Given the description of an element on the screen output the (x, y) to click on. 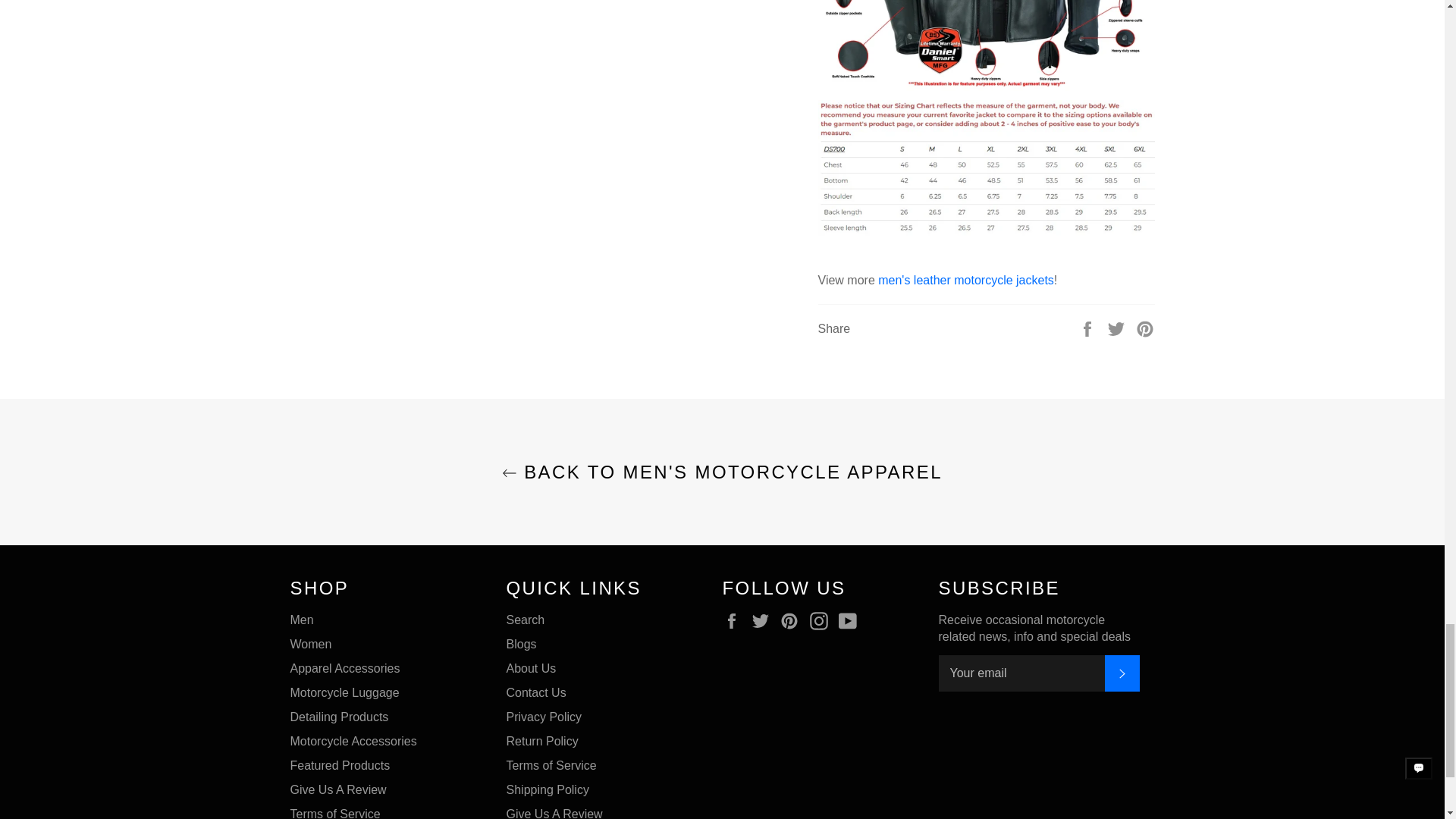
TwistyRider.com on Instagram (822, 620)
Share on Facebook (1088, 327)
TwistyRider.com on Pinterest (793, 620)
Men's Leather Motorcycle Jackets Collection (965, 279)
TwistyRider.com on Twitter (764, 620)
Tweet on Twitter (1117, 327)
TwistyRider.com on YouTube (851, 620)
Pin on Pinterest (1144, 327)
TwistyRider.com on Facebook (735, 620)
